Given the description of an element on the screen output the (x, y) to click on. 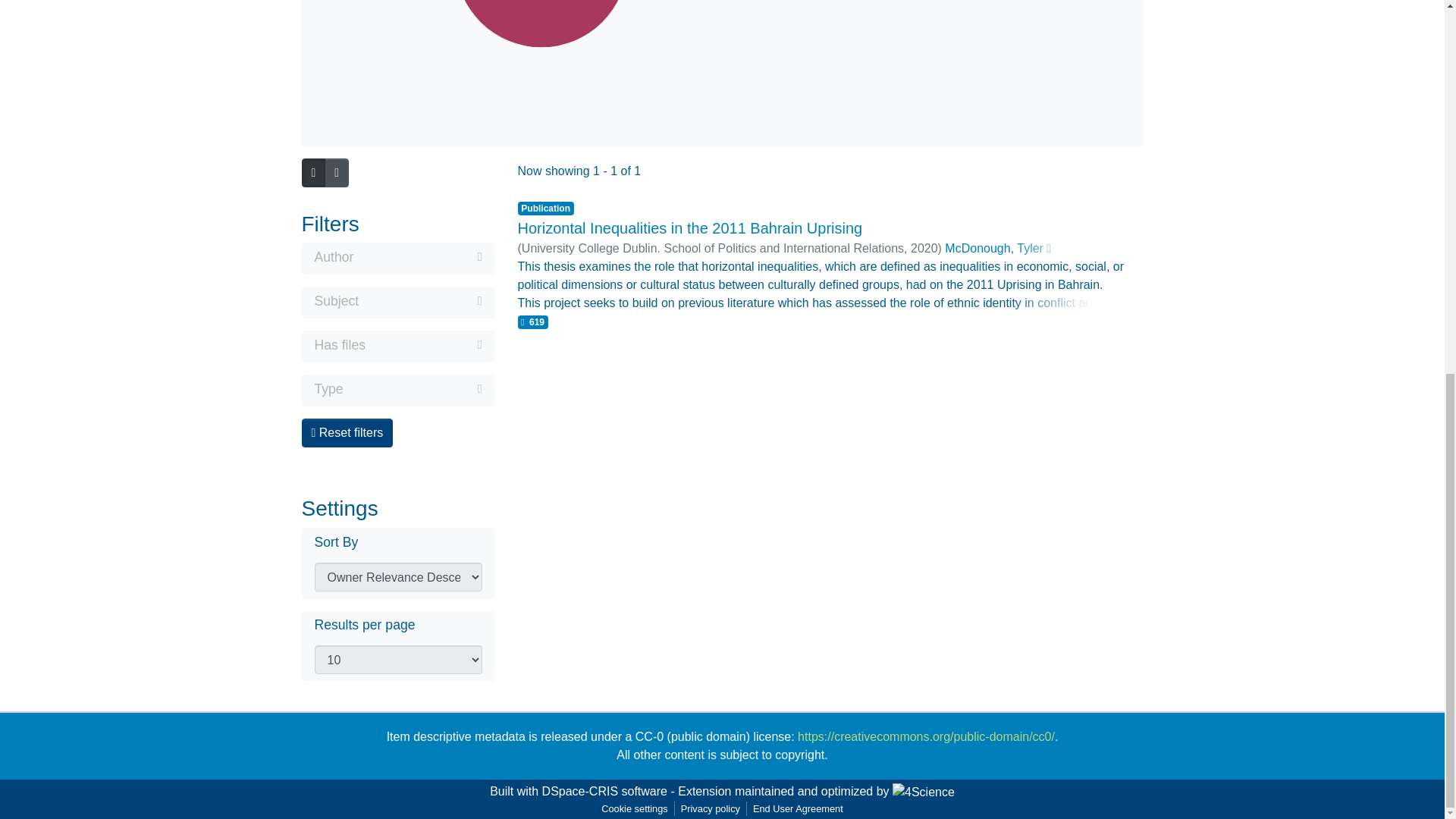
Subject (397, 302)
Expand filter (419, 300)
Author (397, 258)
Expand filter (412, 389)
Expand filter (417, 257)
Expand filter (423, 344)
Has files (397, 346)
